Given the description of an element on the screen output the (x, y) to click on. 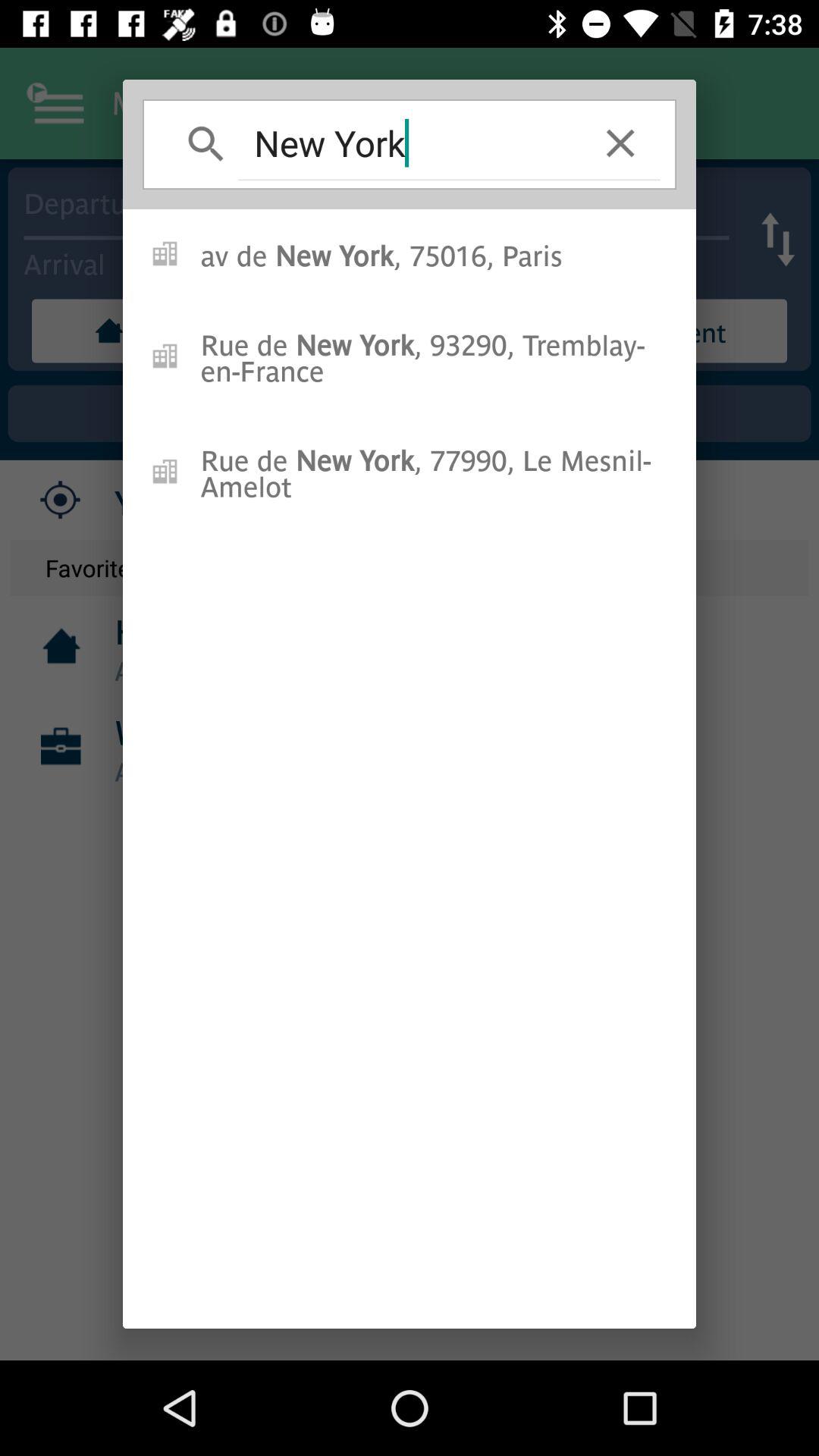
tap item to the right of new york (620, 143)
